Given the description of an element on the screen output the (x, y) to click on. 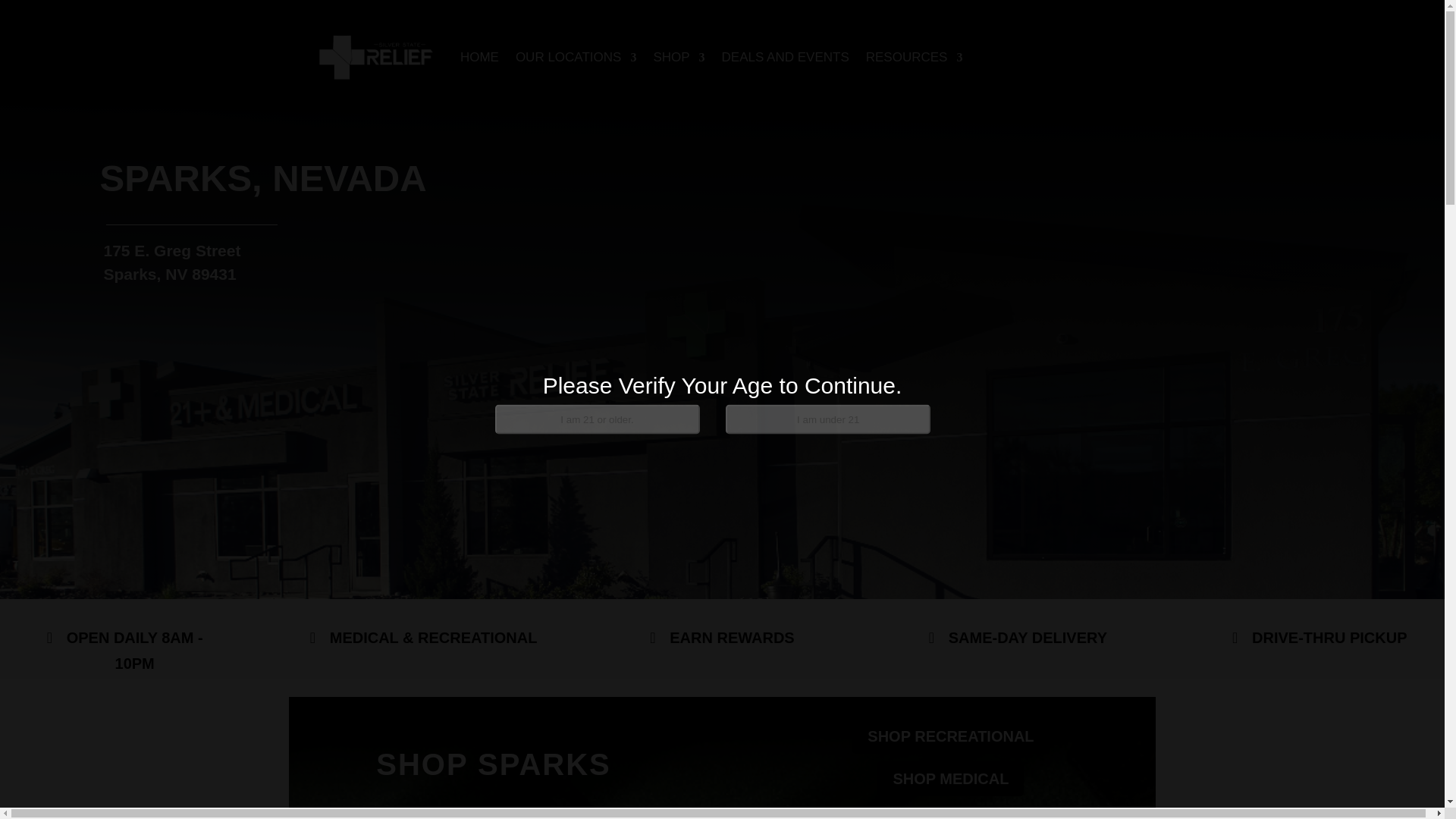
RESOURCES (914, 57)
I am under 21 (827, 419)
DEALS AND EVENTS (785, 57)
SHOP (678, 57)
I am under 21 (827, 419)
I am 21 or older. (596, 419)
OUR LOCATIONS (575, 57)
I am 21 or older. (596, 419)
